Given the description of an element on the screen output the (x, y) to click on. 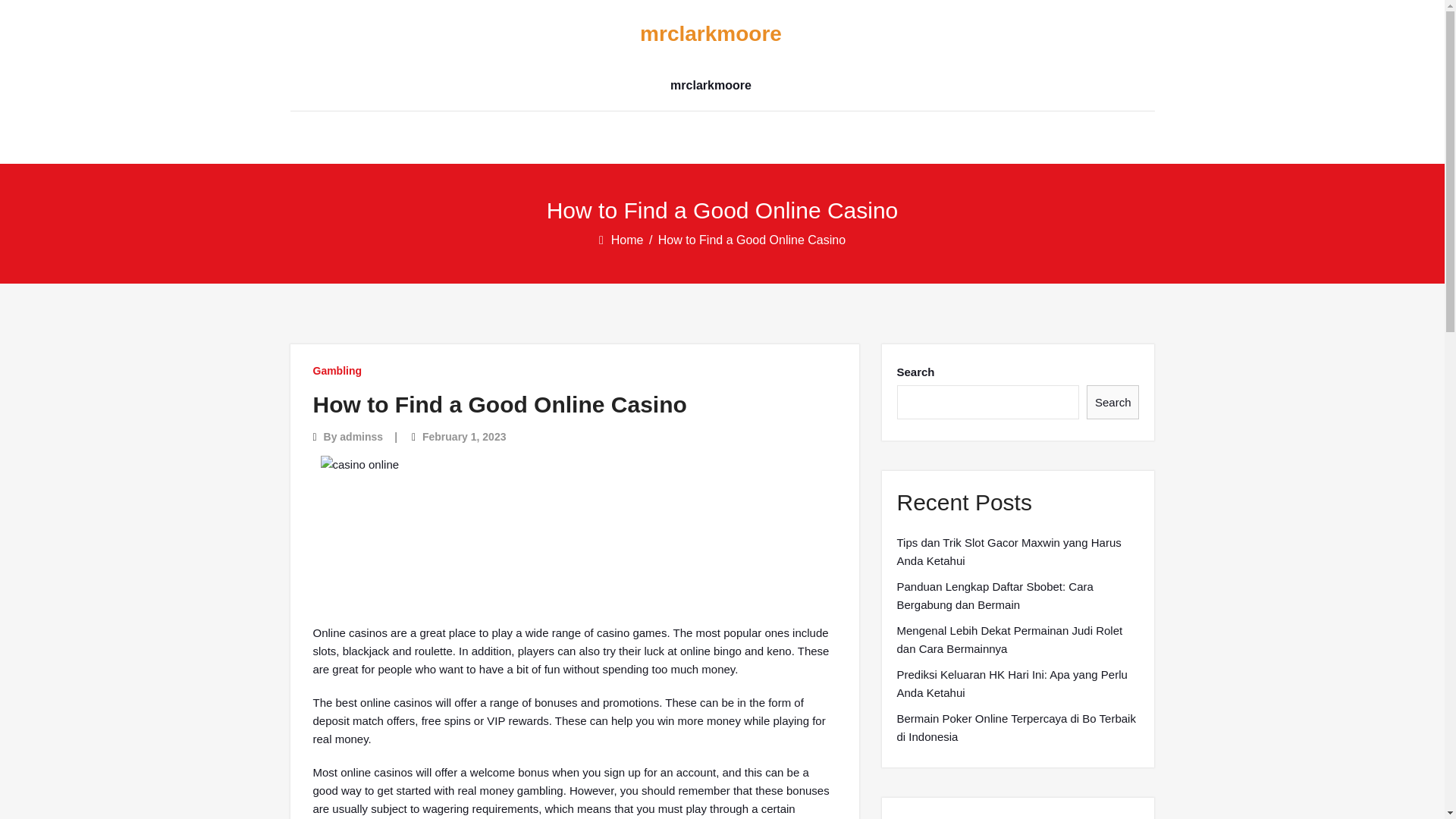
Prediksi Keluaran HK Hari Ini: Apa yang Perlu Anda Ketahui (1017, 683)
Search (1113, 401)
Tips dan Trik Slot Gacor Maxwin yang Harus Anda Ketahui (1017, 551)
mrclarkmoore (710, 34)
Gambling (337, 370)
Home (628, 239)
Bermain Poker Online Terpercaya di Bo Terbaik di Indonesia (1017, 728)
adminss (360, 436)
February 1, 2023 (464, 436)
Panduan Lengkap Daftar Sbobet: Cara Bergabung dan Bermain (1017, 596)
